Given the description of an element on the screen output the (x, y) to click on. 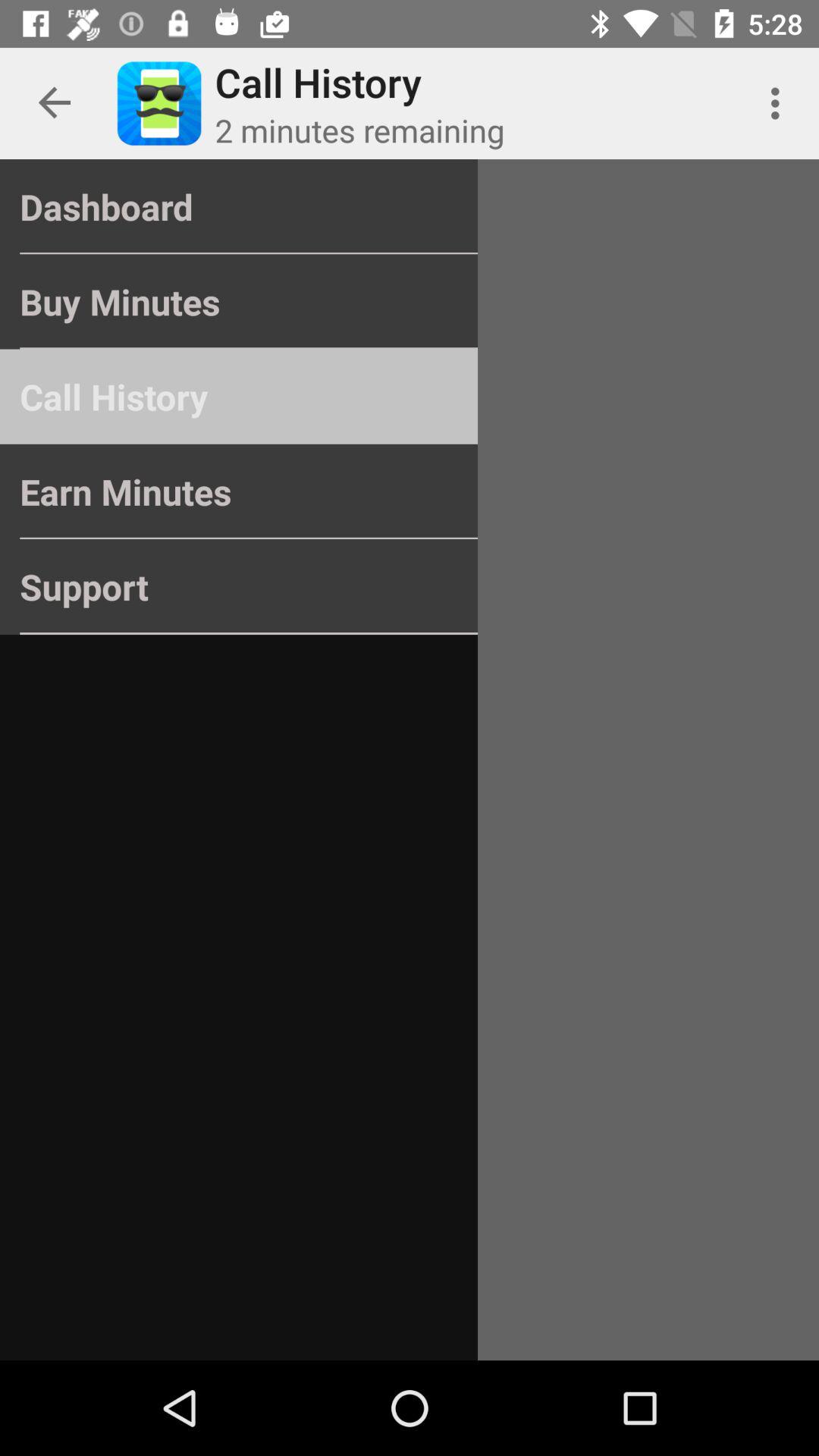
select item above support icon (238, 491)
